Given the description of an element on the screen output the (x, y) to click on. 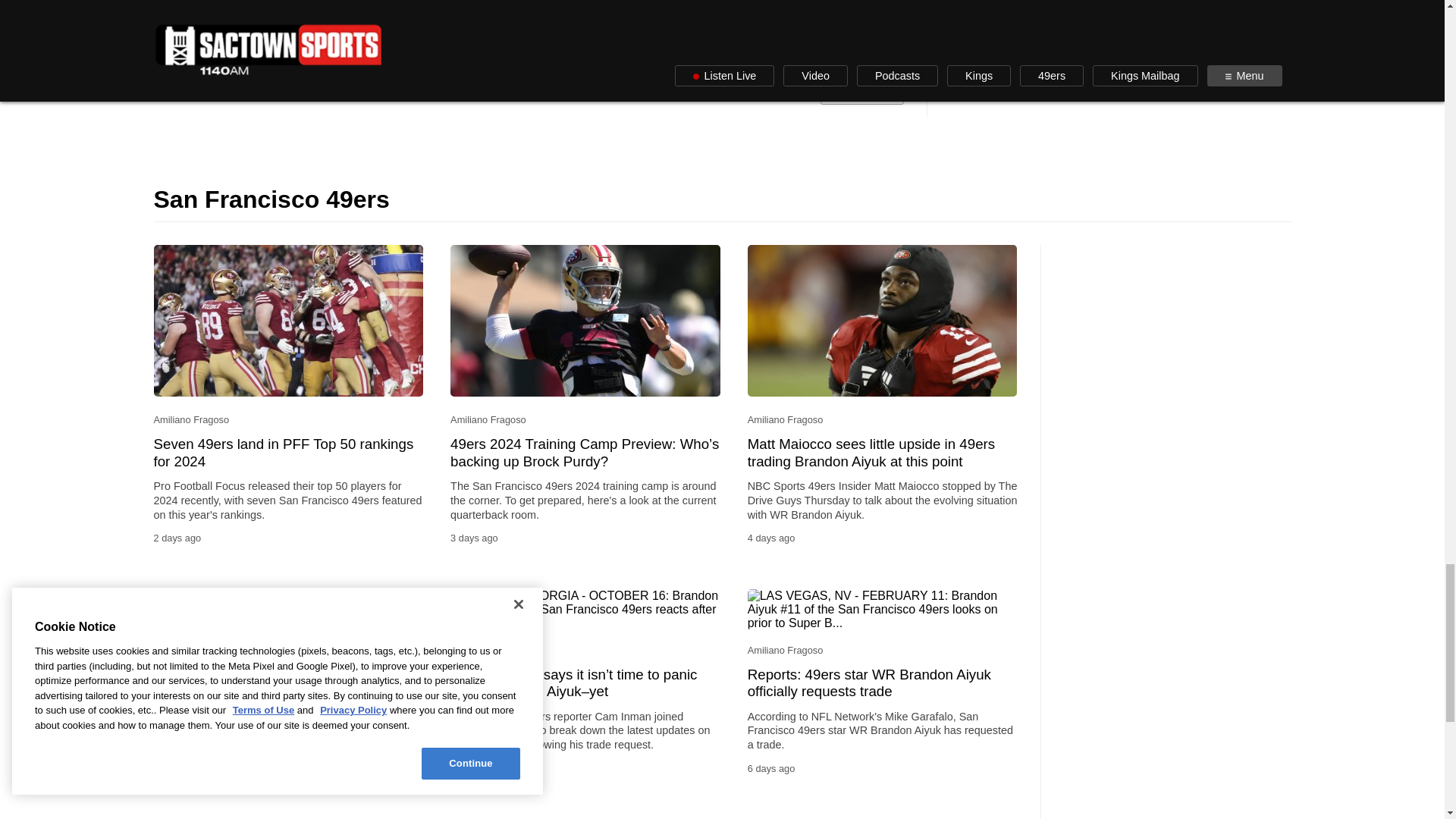
Signup Widget Embed (584, 21)
